Given the description of an element on the screen output the (x, y) to click on. 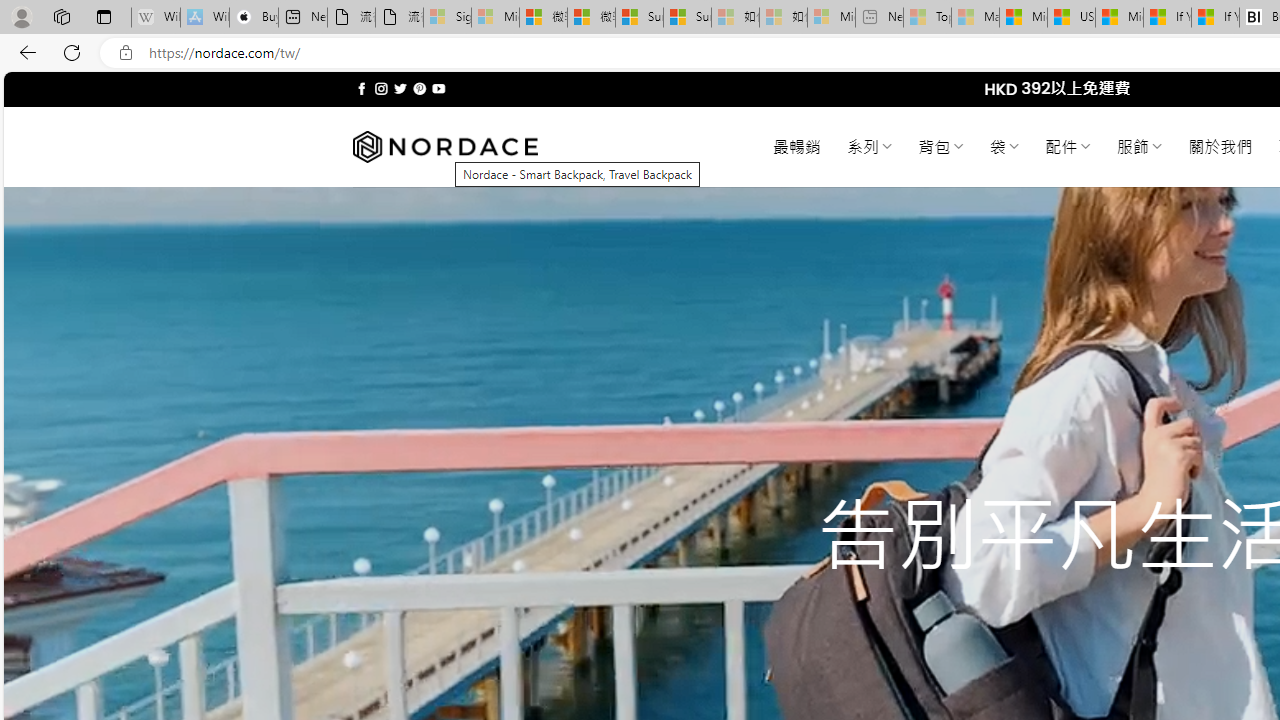
Follow on Facebook (361, 88)
Microsoft Services Agreement - Sleeping (495, 17)
Marine life - MSN - Sleeping (975, 17)
Follow on Twitter (400, 88)
Follow on Instagram (381, 88)
US Heat Deaths Soared To Record High Last Year (1071, 17)
